Given the description of an element on the screen output the (x, y) to click on. 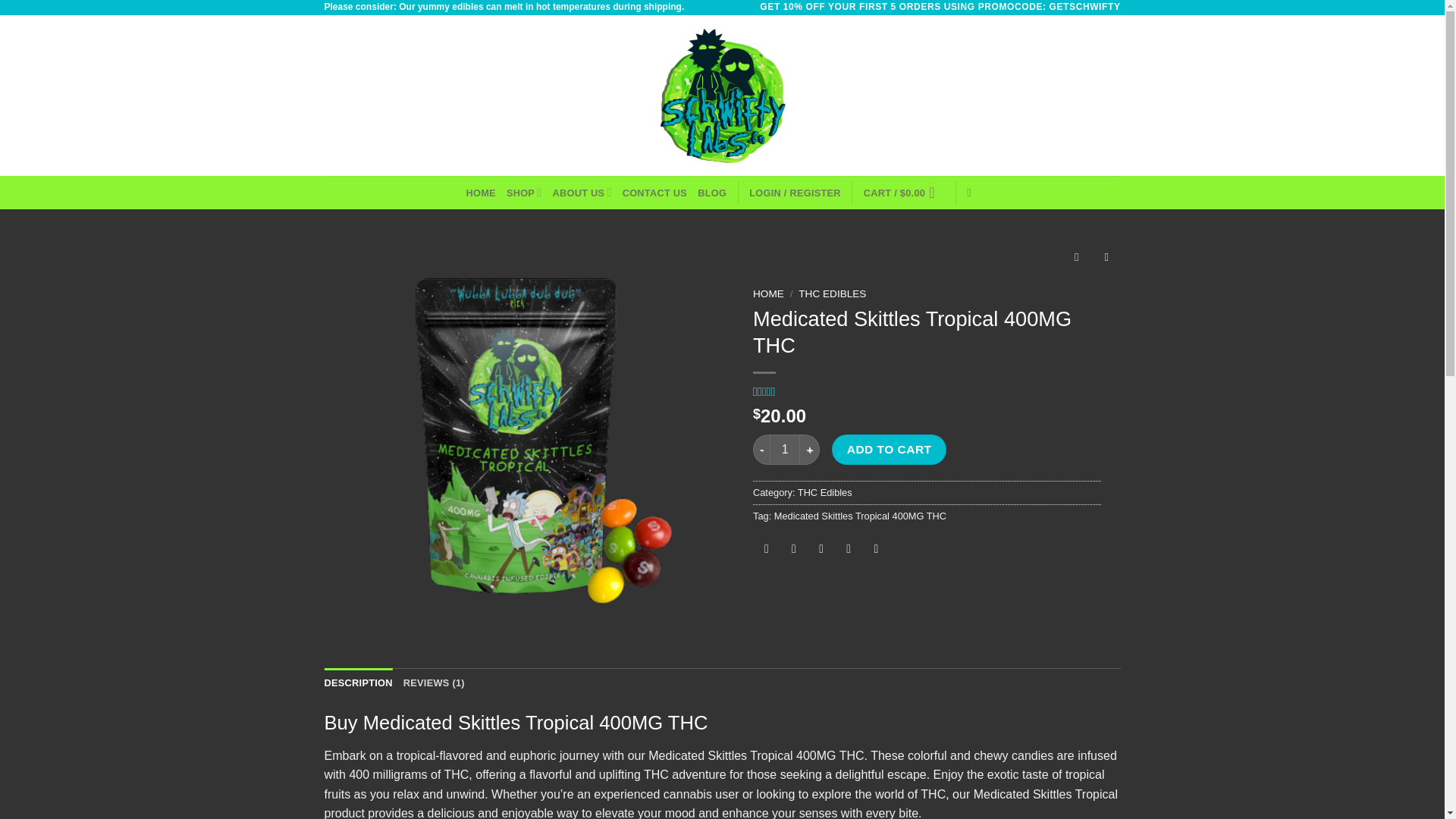
1 (784, 449)
Cart (903, 192)
HOME (480, 192)
SHOP (523, 192)
Login (795, 192)
ABOUT US (581, 192)
